Given the description of an element on the screen output the (x, y) to click on. 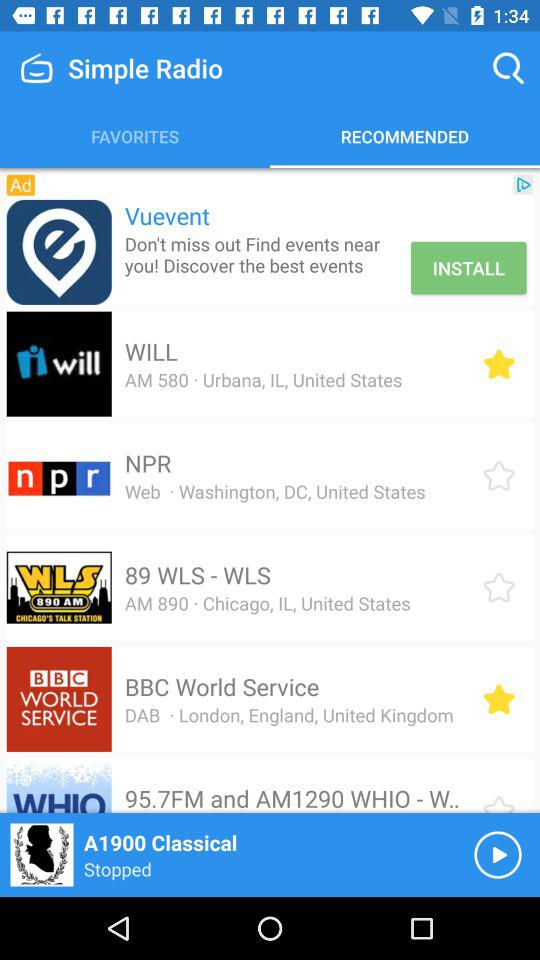
flip until bbc world service icon (221, 686)
